Given the description of an element on the screen output the (x, y) to click on. 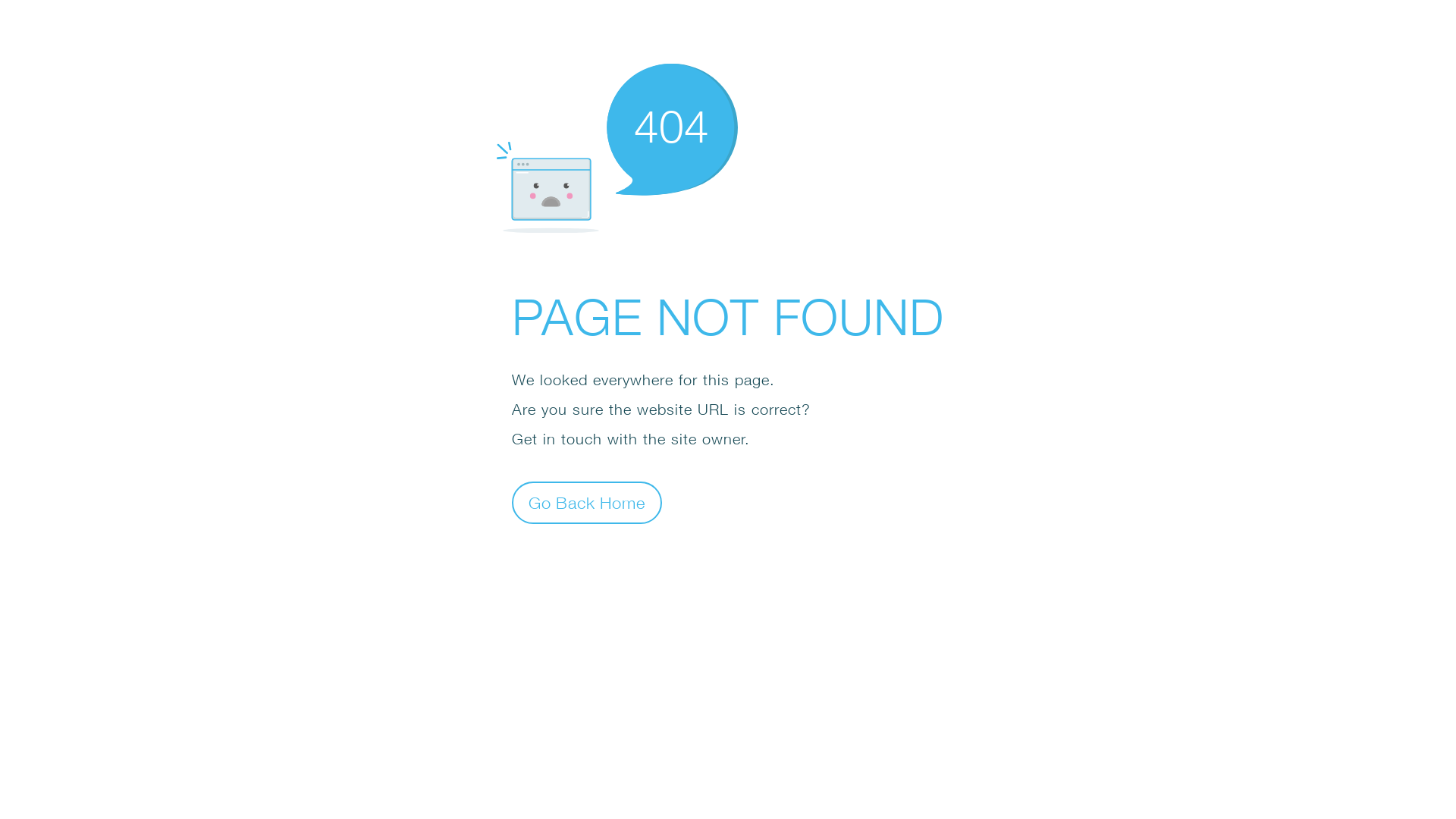
Go Back Home Element type: text (586, 502)
